Given the description of an element on the screen output the (x, y) to click on. 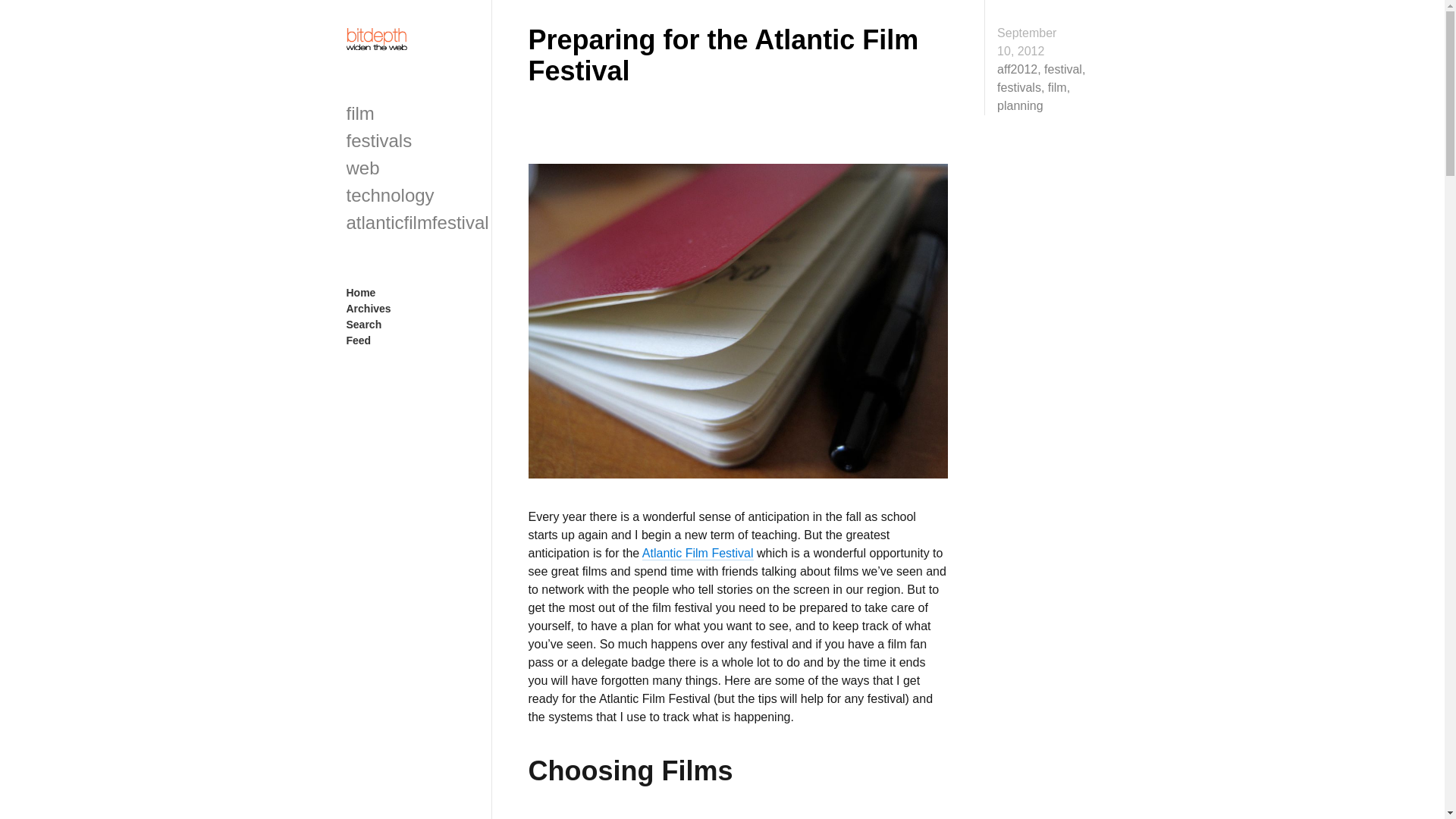
The homepage of bitdepth (394, 37)
